Given the description of an element on the screen output the (x, y) to click on. 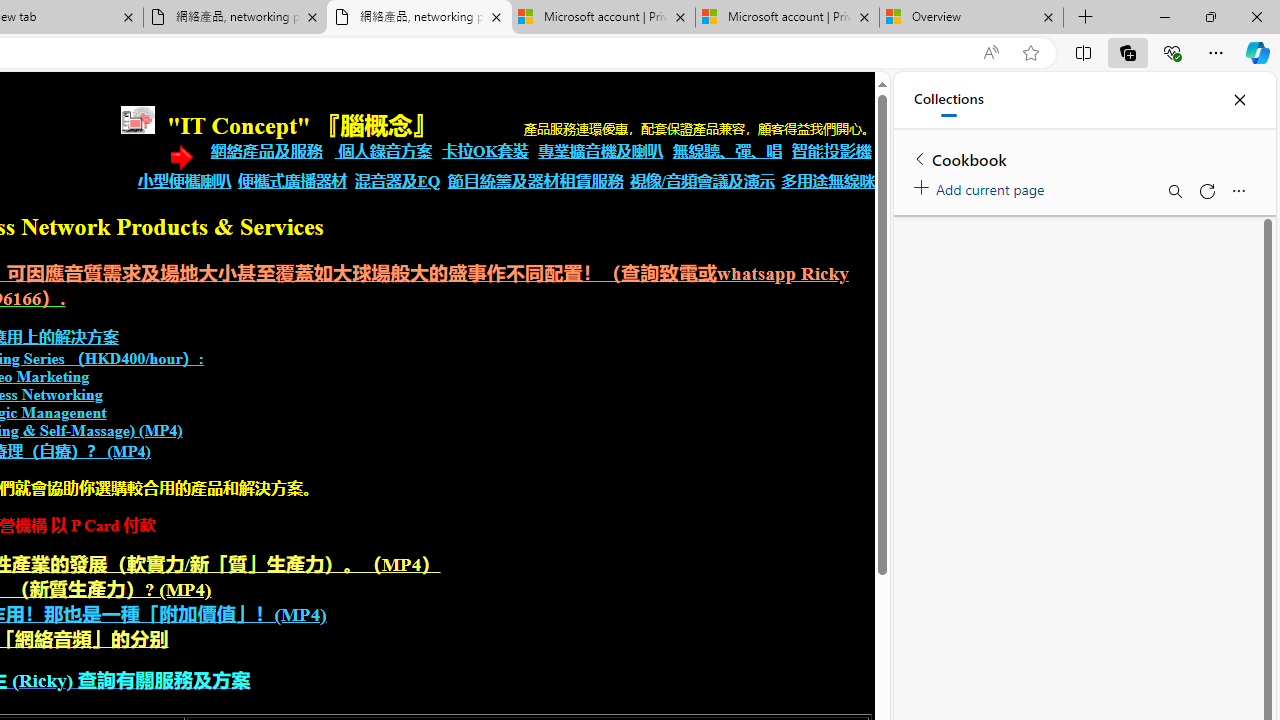
Add current page (982, 186)
More options menu (1238, 190)
